Given the description of an element on the screen output the (x, y) to click on. 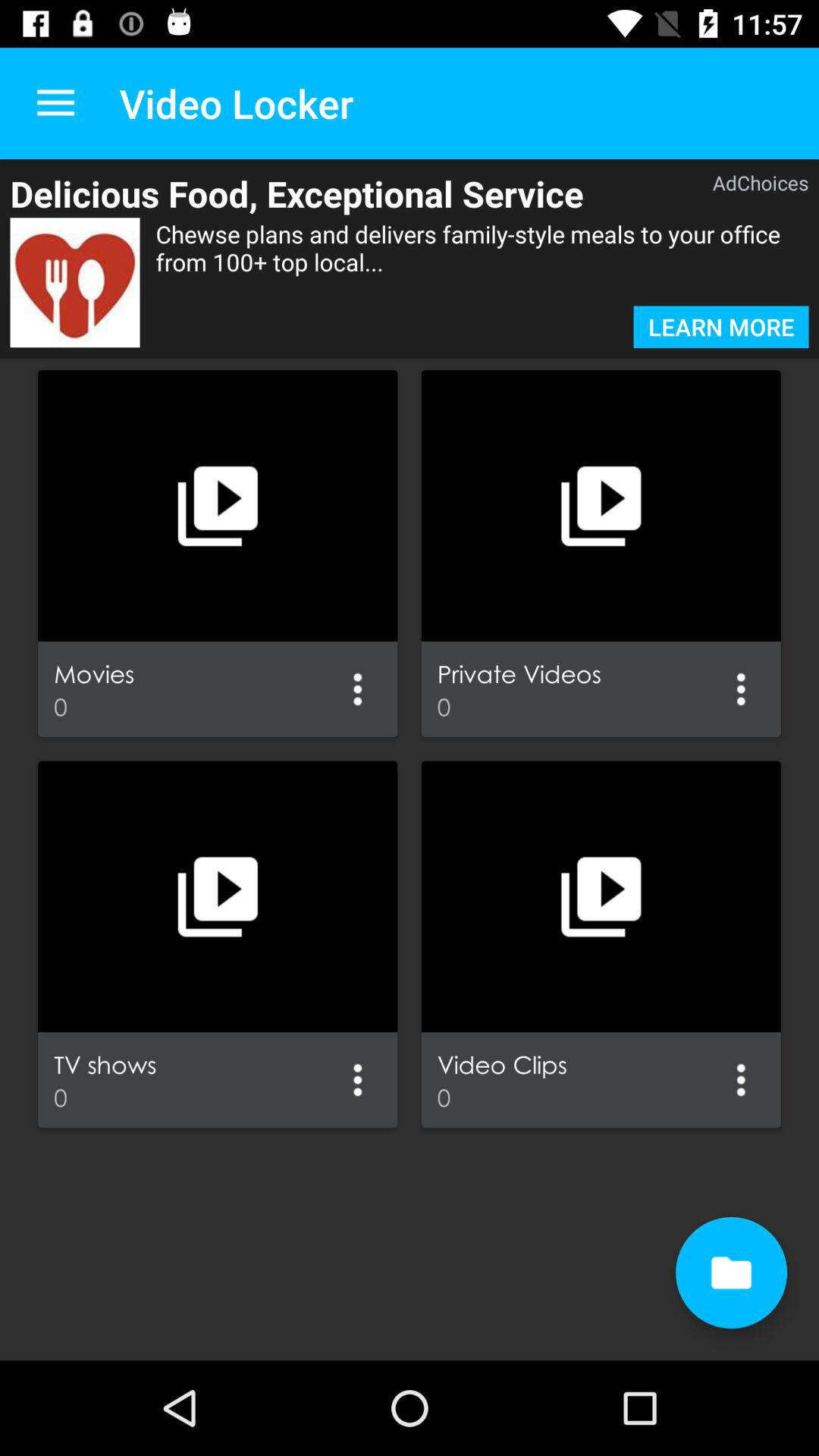
select learn more (720, 326)
